Given the description of an element on the screen output the (x, y) to click on. 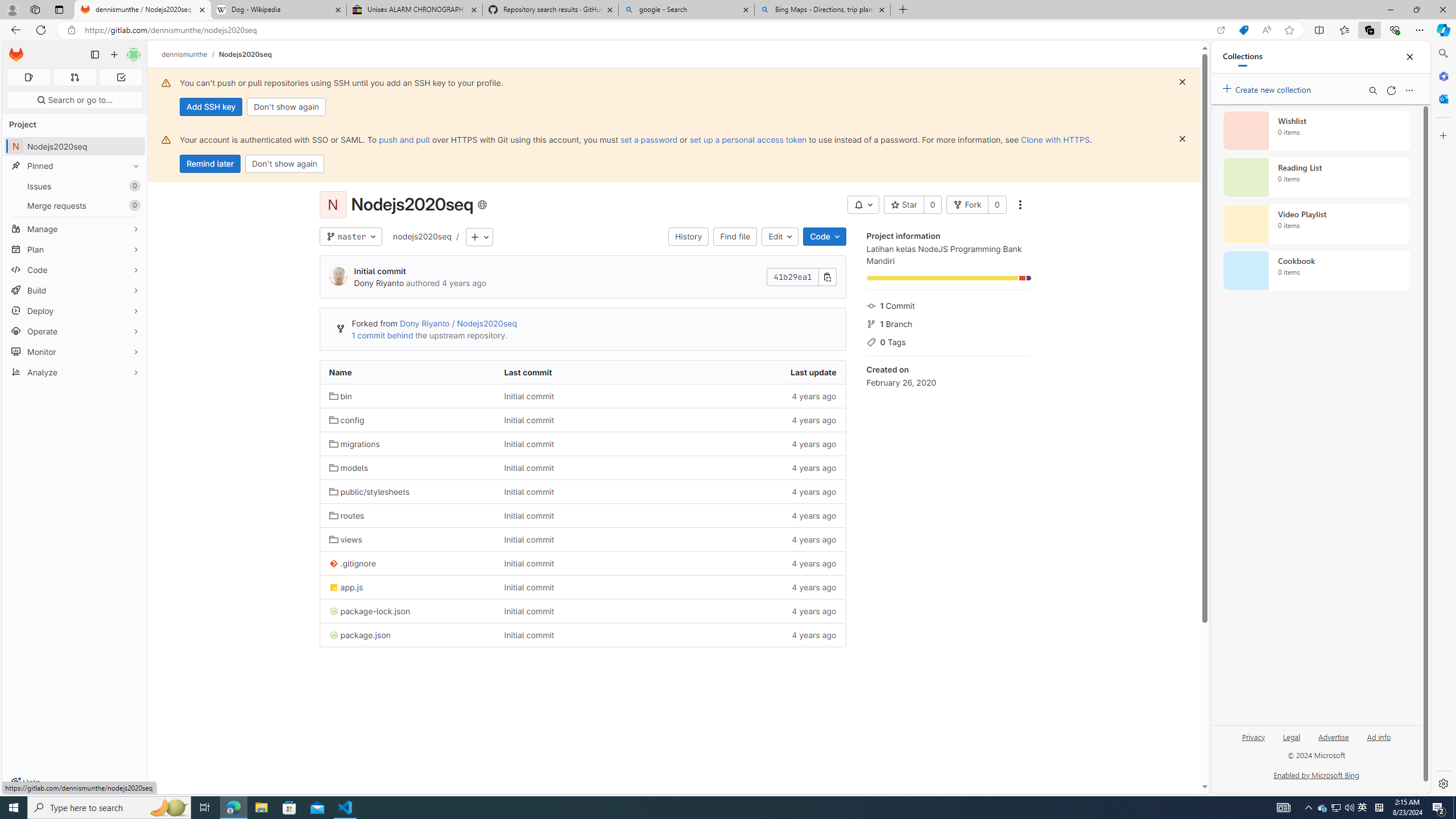
set up a personal access token (747, 139)
Legal (1291, 736)
Legal (1292, 741)
Clone with HTTPS (1054, 139)
package.json (359, 634)
Last update (757, 372)
0 (996, 204)
Shopping in Microsoft Edge (1243, 29)
dennismunthe/ (189, 53)
Primary navigation sidebar (94, 54)
More actions (1019, 204)
Edit (780, 236)
Privacy (1253, 736)
